Given the description of an element on the screen output the (x, y) to click on. 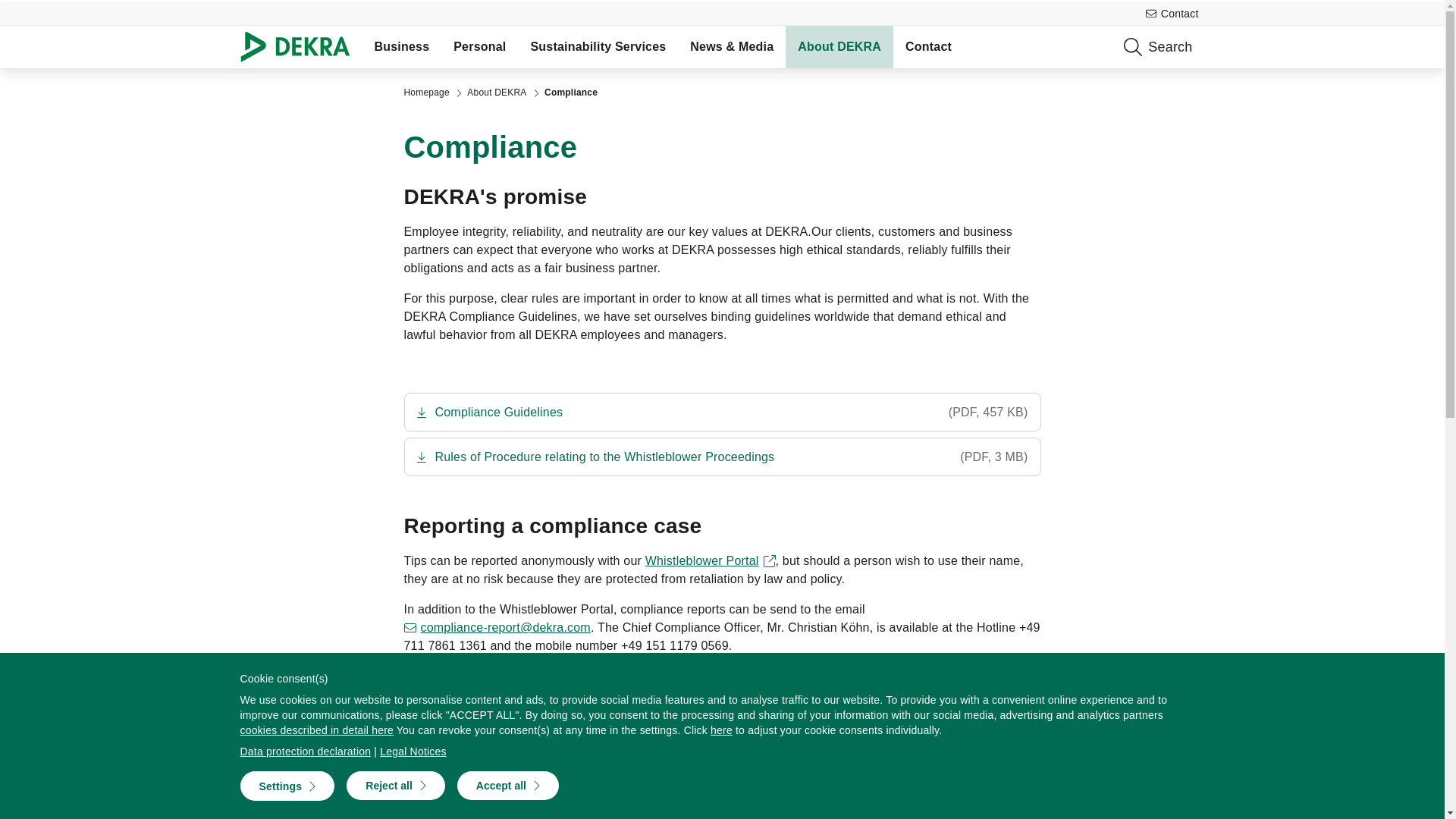
Logo (300, 46)
About DEKRA (496, 92)
Contact (1172, 13)
Search (1243, 46)
Homepage (425, 92)
Contact (928, 46)
